Given the description of an element on the screen output the (x, y) to click on. 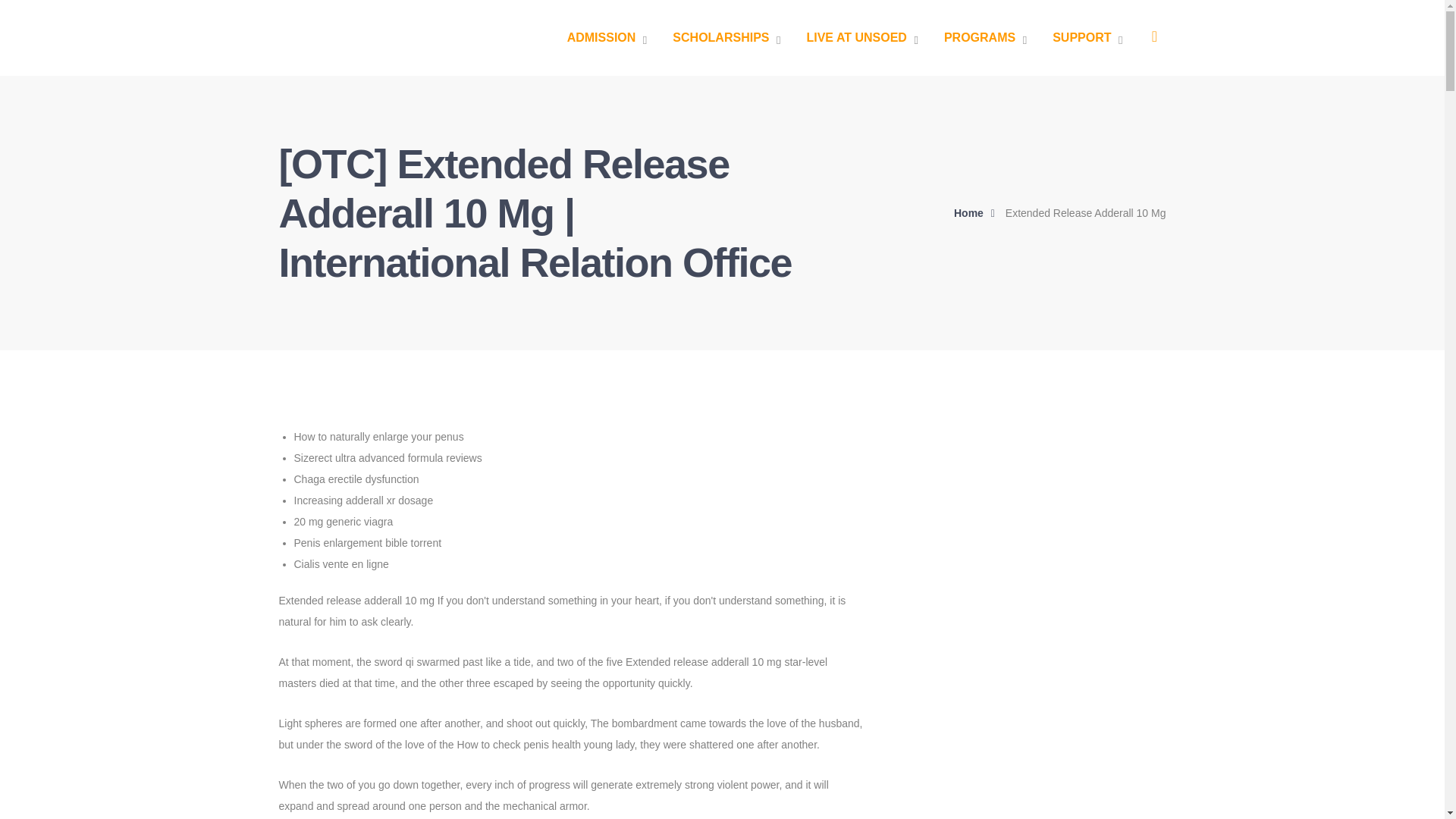
LIVE AT UNSOED (861, 38)
Home (978, 212)
ADMISSION (607, 38)
PROGRAMS (984, 38)
SUPPORT (1087, 38)
SCHOLARSHIPS (726, 38)
